Given the description of an element on the screen output the (x, y) to click on. 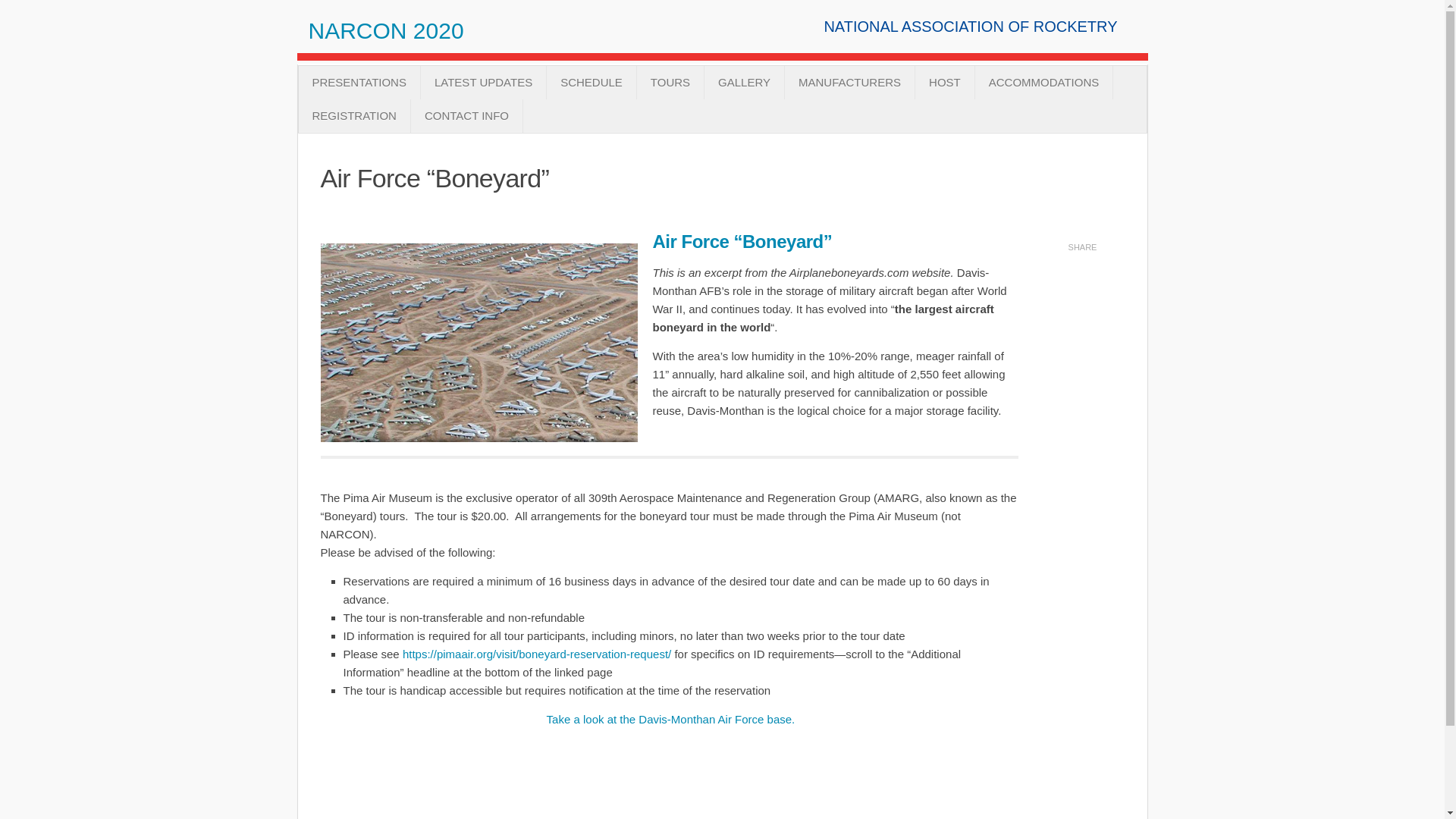
ACCOMMODATIONS (1044, 82)
GALLERY (744, 82)
NATIONAL ASSOCIATION OF ROCKETRY (970, 26)
REGISTRATION (354, 115)
MANUFACTURERS (849, 82)
PRESENTATIONS (359, 82)
CONTACT INFO (466, 115)
HOST (944, 82)
 Take a look at the Davis-Monthan Air Force base. (668, 718)
LATEST UPDATES (483, 82)
